Given the description of an element on the screen output the (x, y) to click on. 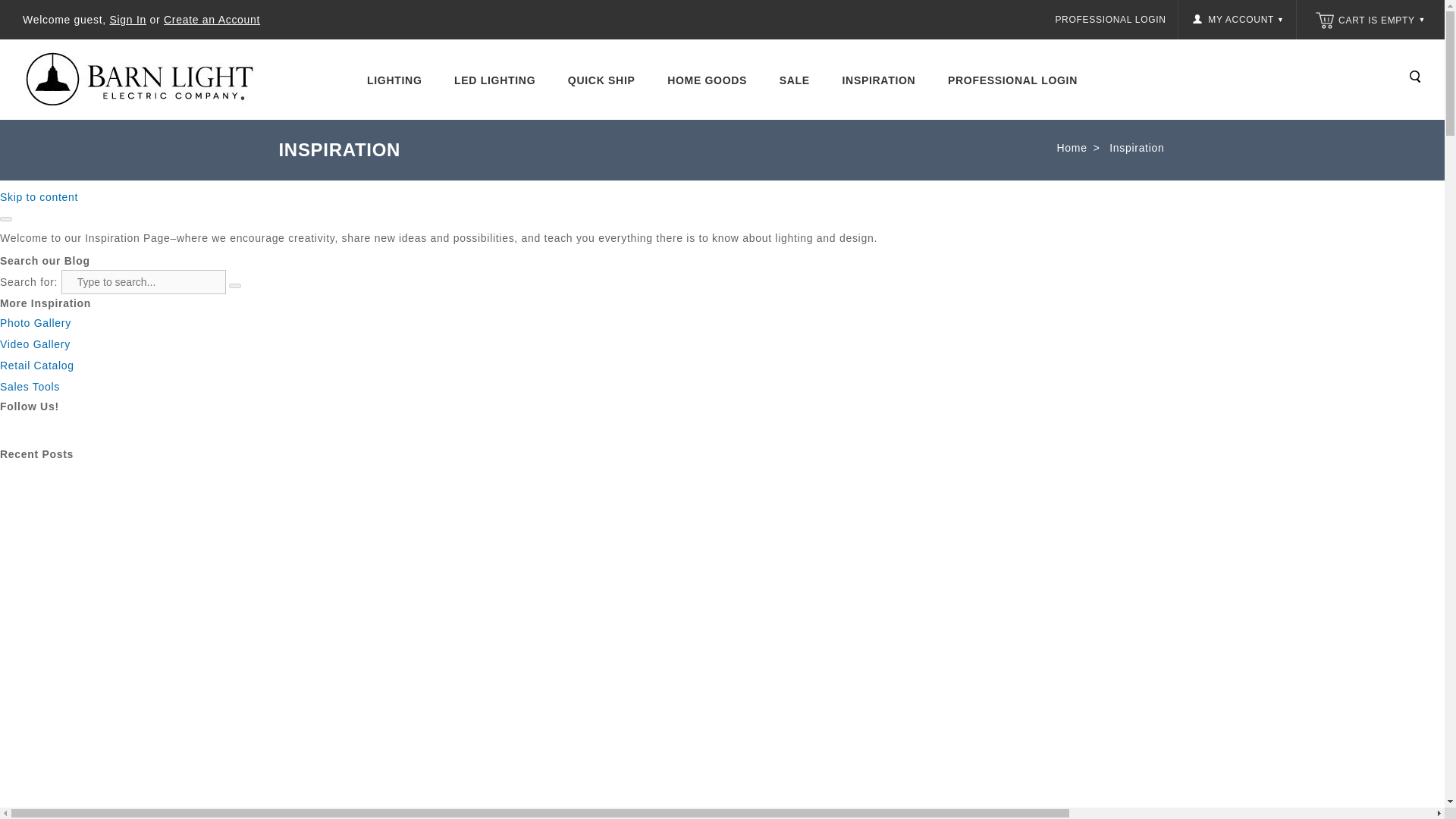
Barn Light Electric Company (147, 78)
Follow Us on LinkedIn (108, 427)
Search for: (143, 282)
Follow Us on Instagram (60, 427)
Sign In (128, 19)
Create an Account (211, 19)
LIGHTING (393, 80)
Follow Us on Pinterest (84, 427)
PROFESSIONAL LOGIN (1110, 19)
Follow Us on Twitter (36, 427)
Follow Us on Facebook (12, 427)
